Given the description of an element on the screen output the (x, y) to click on. 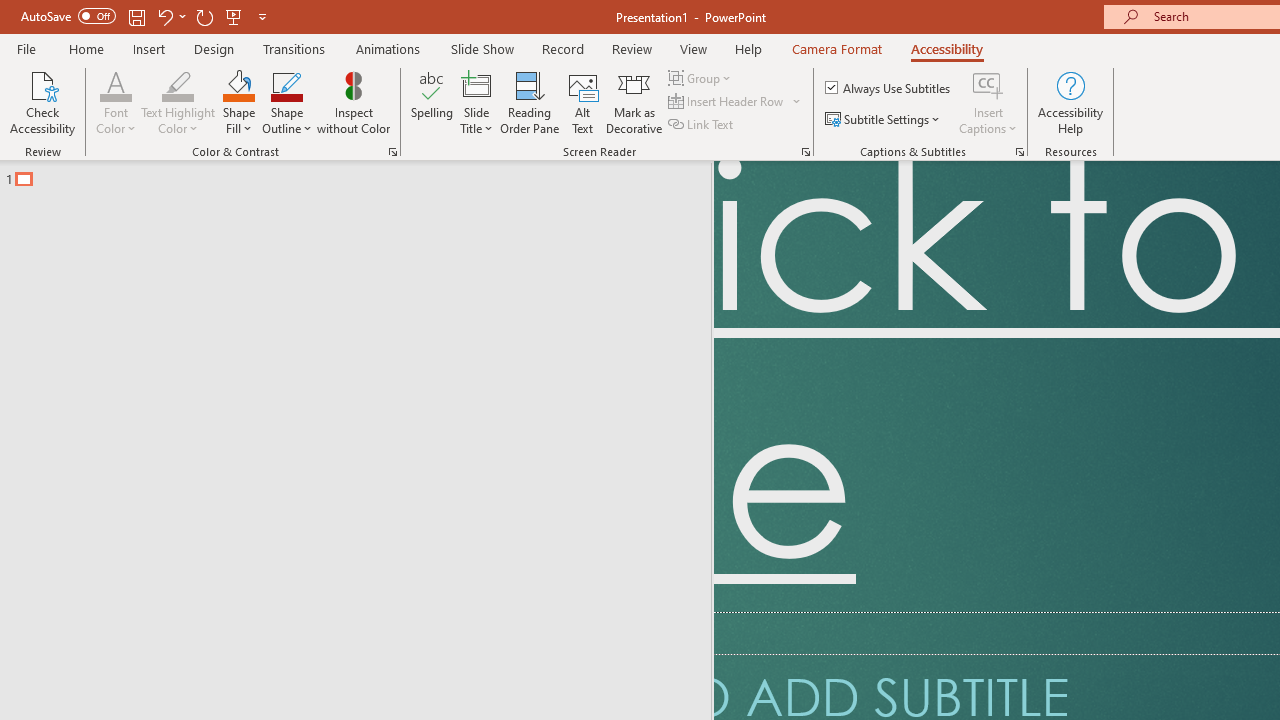
Insert Header Row (735, 101)
Spelling... (432, 102)
Reading Order Pane (529, 102)
Always Use Subtitles (889, 87)
Insert Captions (988, 102)
Shape Fill Orange, Accent 2 (238, 84)
Group (701, 78)
Inspect without Color (353, 102)
Alt Text (582, 102)
